Given the description of an element on the screen output the (x, y) to click on. 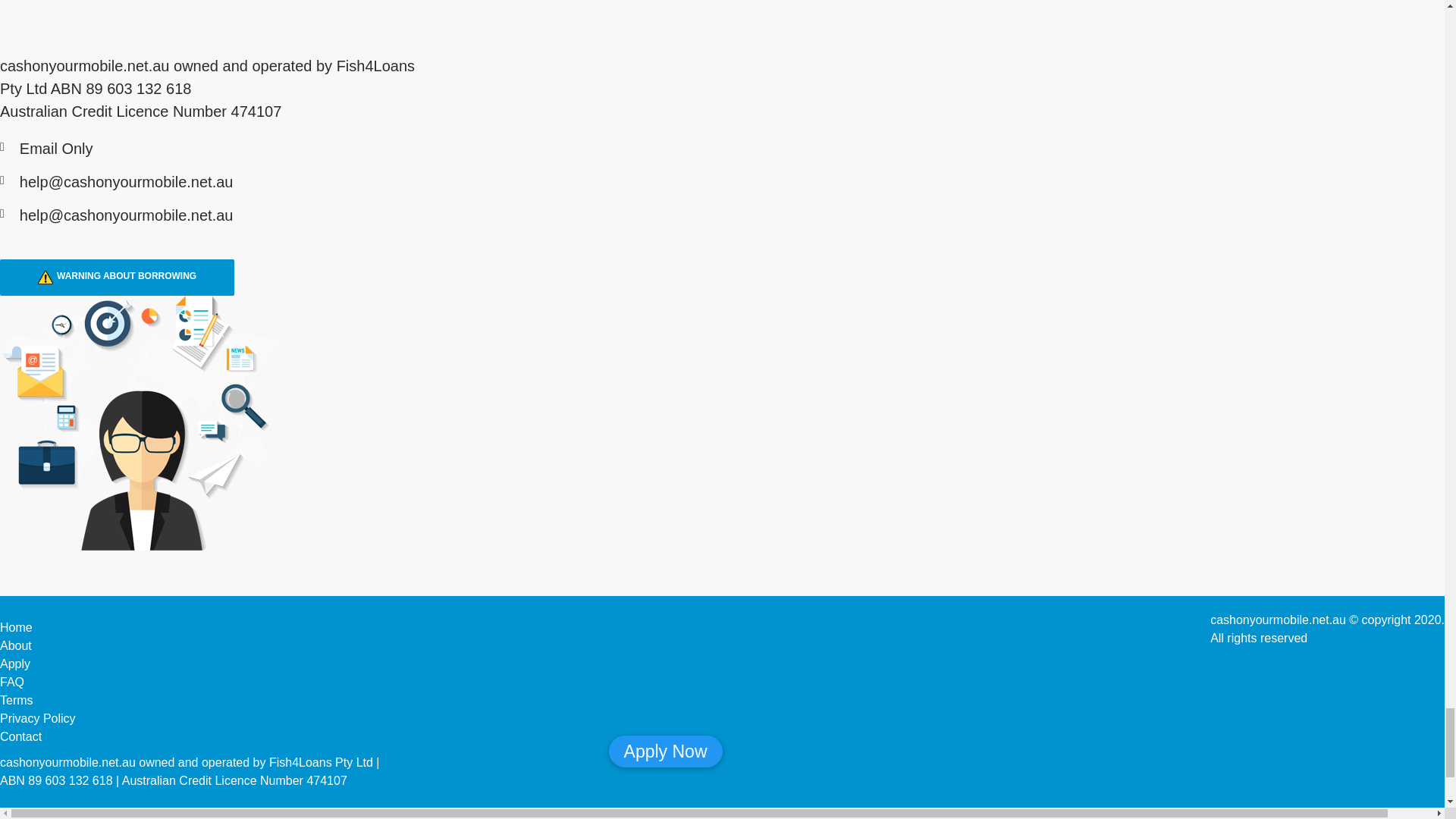
FAQ (12, 681)
Home (16, 626)
Apply (15, 663)
About (16, 645)
Privacy Policy (37, 717)
WARNING ABOUT BORROWING (117, 277)
Terms (16, 699)
Contact (21, 736)
